Given the description of an element on the screen output the (x, y) to click on. 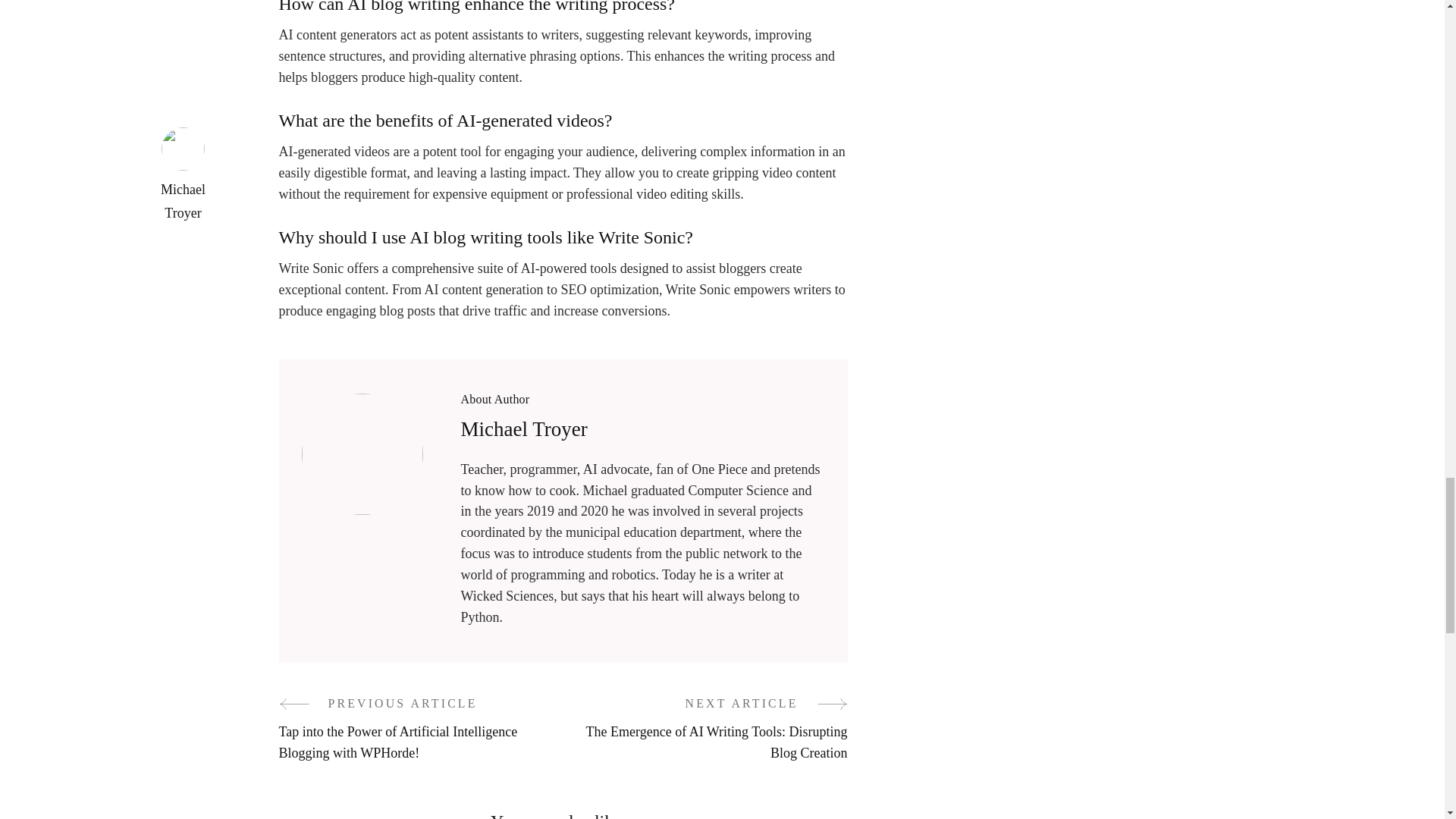
Michael Troyer (524, 428)
